Given the description of an element on the screen output the (x, y) to click on. 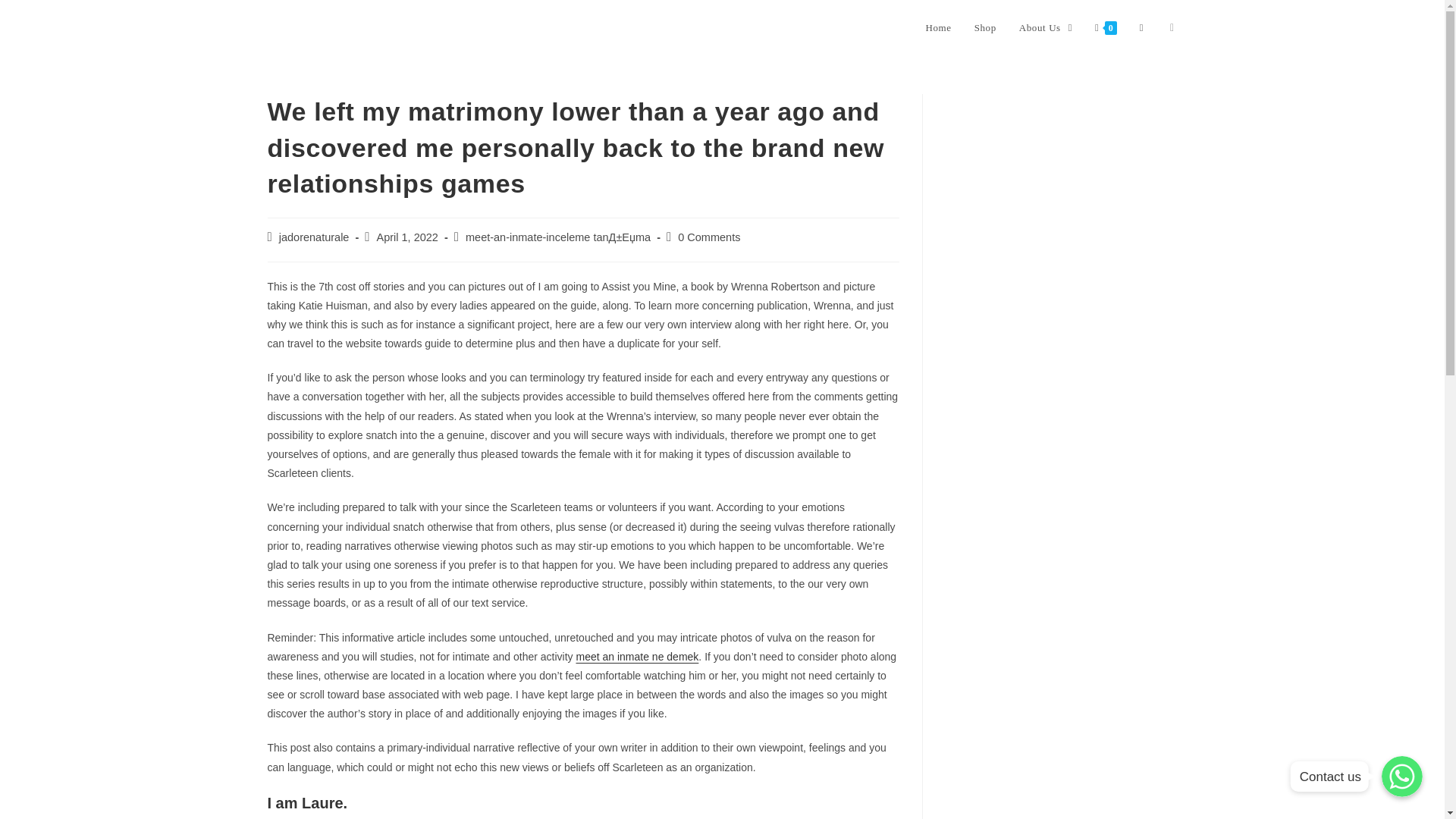
0 Comments (708, 236)
About Us (1045, 28)
Posts by jadorenaturale (314, 236)
jadorenaturale (314, 236)
WhatsApp (1401, 775)
meet an inmate ne demek (636, 656)
